Given the description of an element on the screen output the (x, y) to click on. 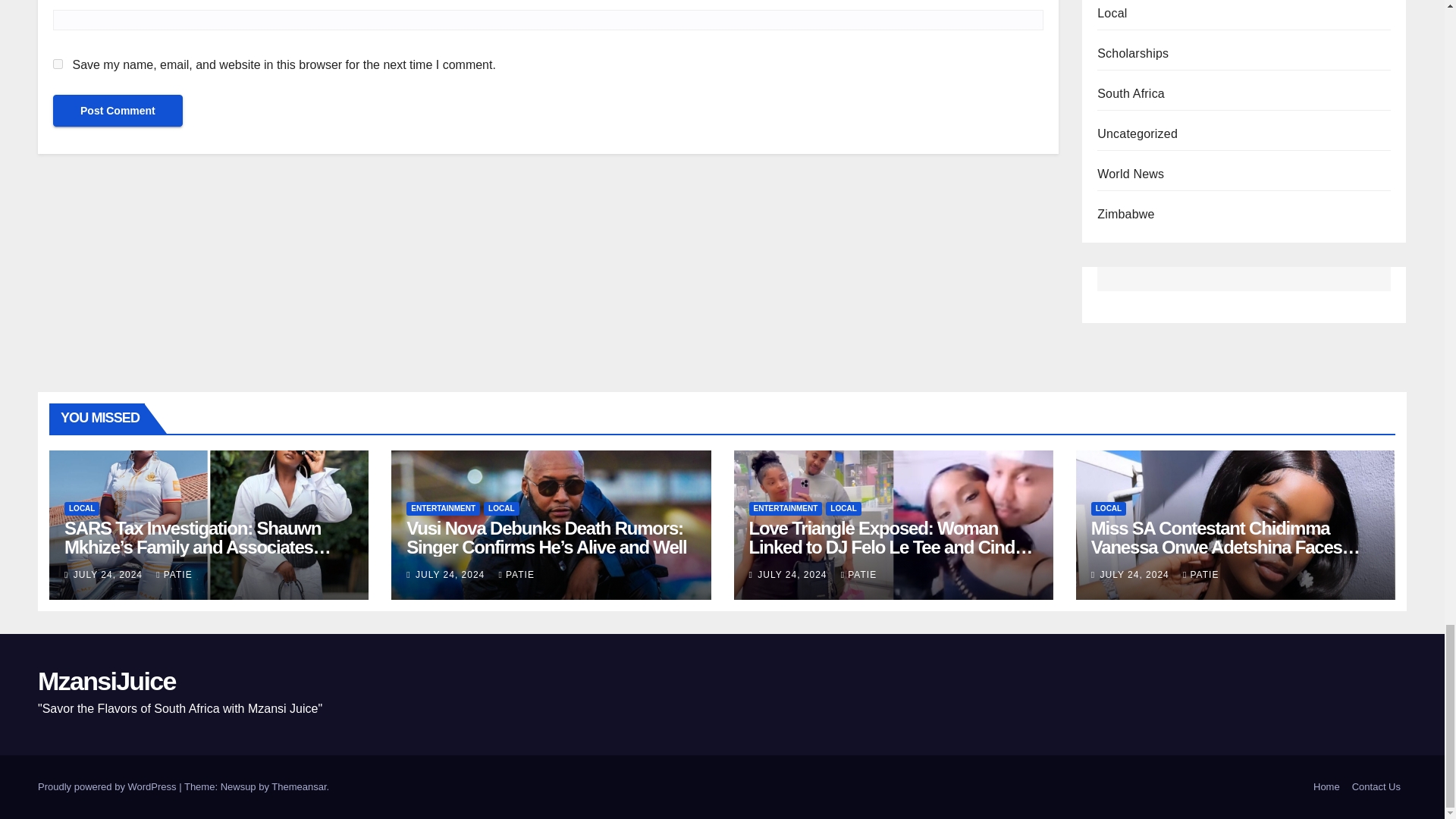
Home (1326, 786)
yes (57, 63)
Post Comment (117, 110)
